Given the description of an element on the screen output the (x, y) to click on. 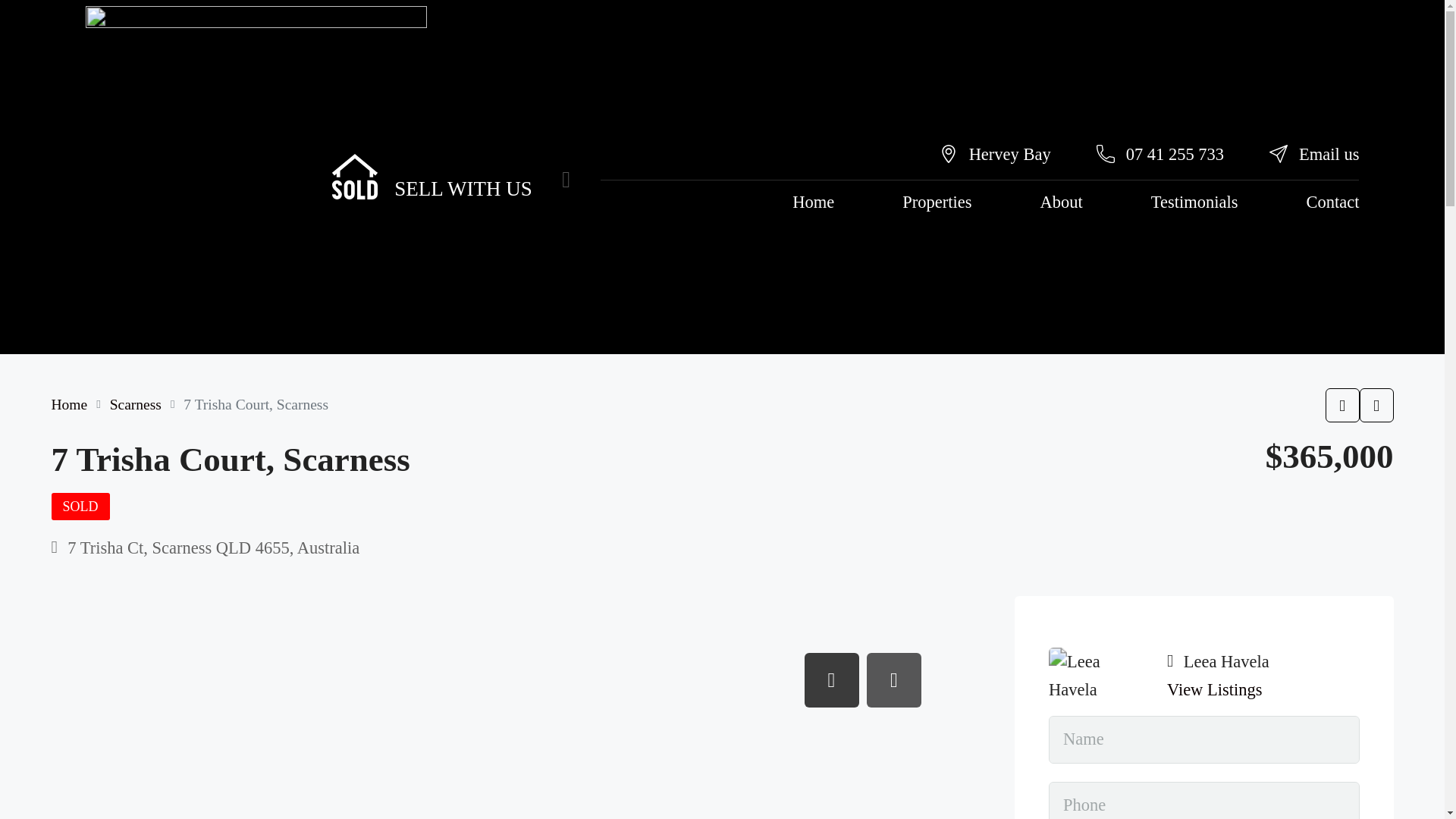
About (706, 134)
SELL WITH US (309, 125)
Testimonials (795, 134)
Contact (887, 134)
Home (542, 134)
Email us (875, 102)
Properties (625, 134)
